Given the description of an element on the screen output the (x, y) to click on. 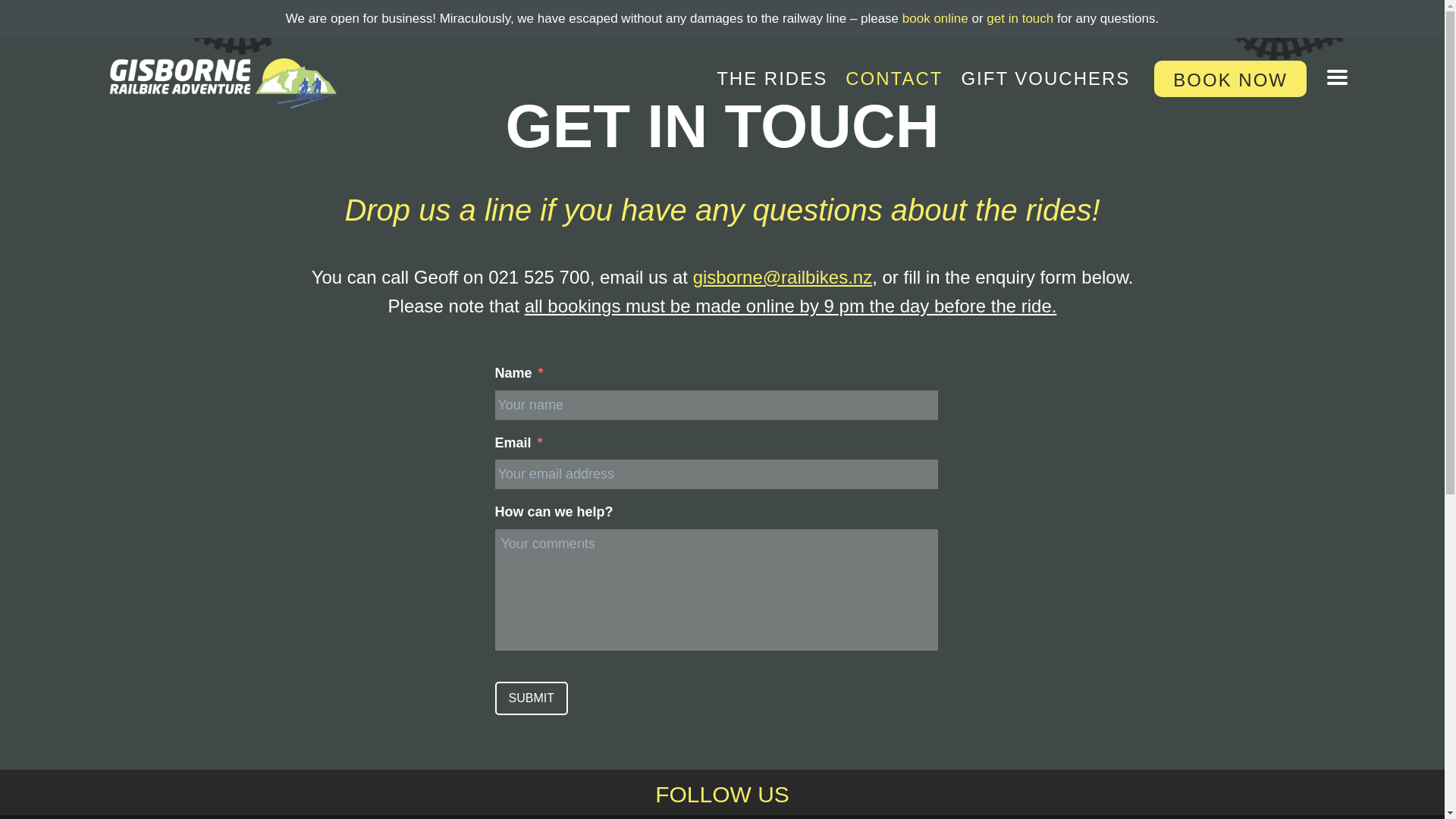
GIFT VOUCHERS (1045, 78)
book online (935, 18)
SUBMIT (531, 697)
get in touch (1019, 18)
BOOK NOW (1230, 78)
THE RIDES (771, 78)
CONTACT (893, 78)
